Given the description of an element on the screen output the (x, y) to click on. 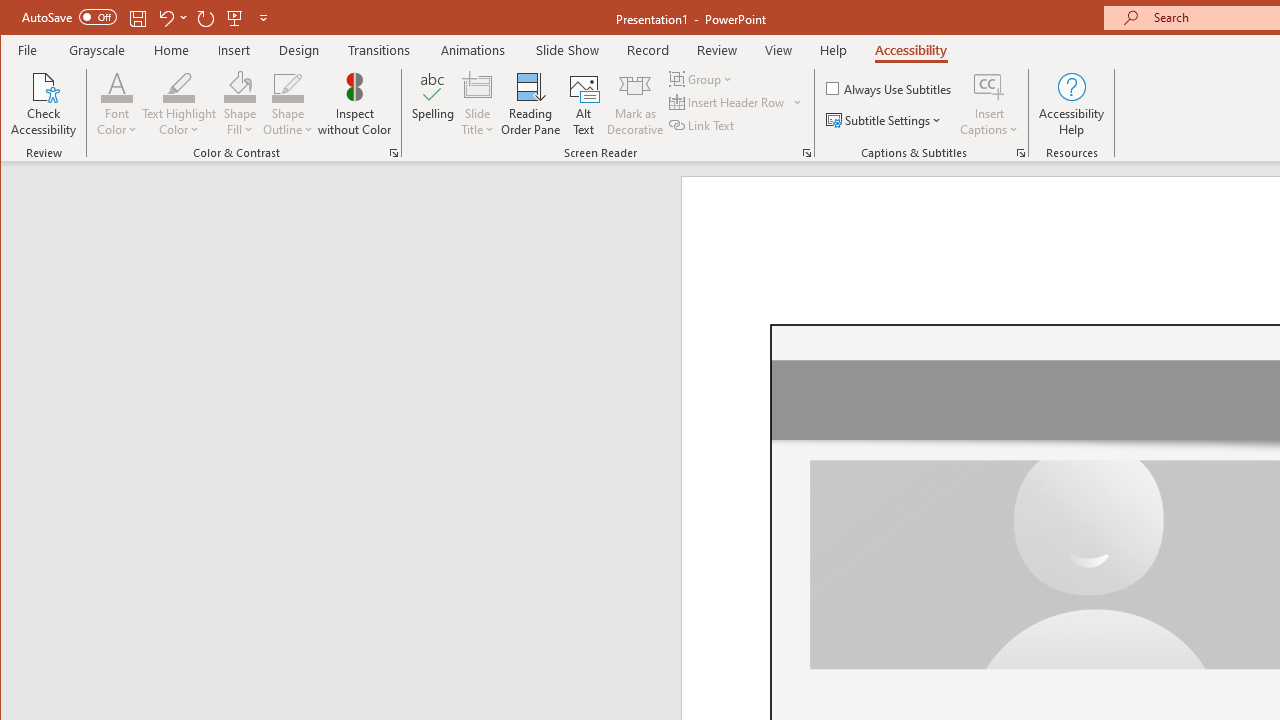
Check Accessibility (43, 104)
Insert Captions (989, 86)
Insert Captions (989, 104)
Captions & Subtitles (1020, 152)
Font Color (116, 104)
Alt Text (584, 104)
Link Text (703, 124)
Text Highlight Color (178, 104)
Shape Outline Blue, Accent 1 (288, 86)
Accessibility Help (1071, 104)
